Given the description of an element on the screen output the (x, y) to click on. 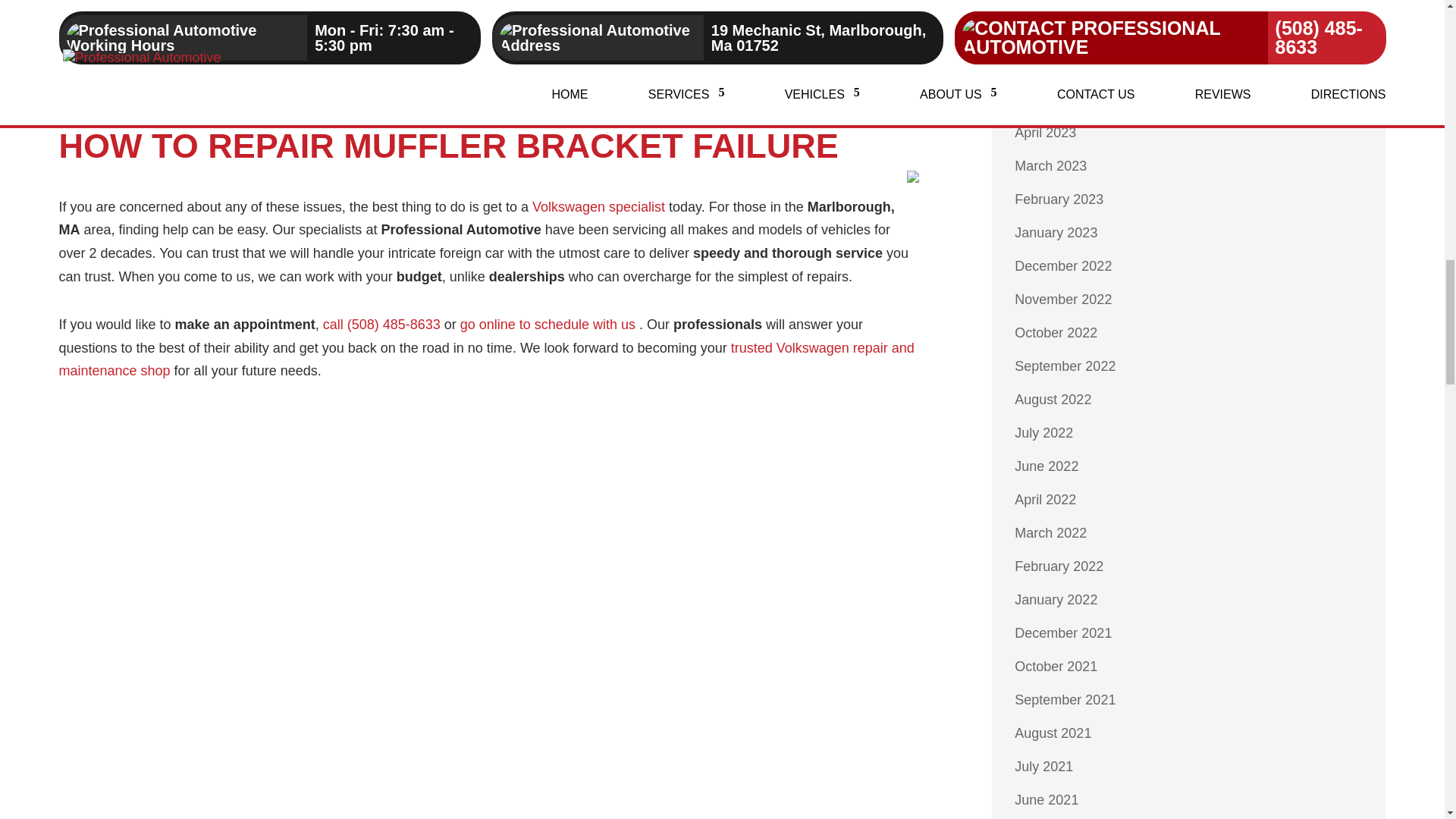
Schedule an appointment (547, 324)
Professional Automotive (486, 359)
Call us (382, 324)
The Professional Story (598, 206)
